Given the description of an element on the screen output the (x, y) to click on. 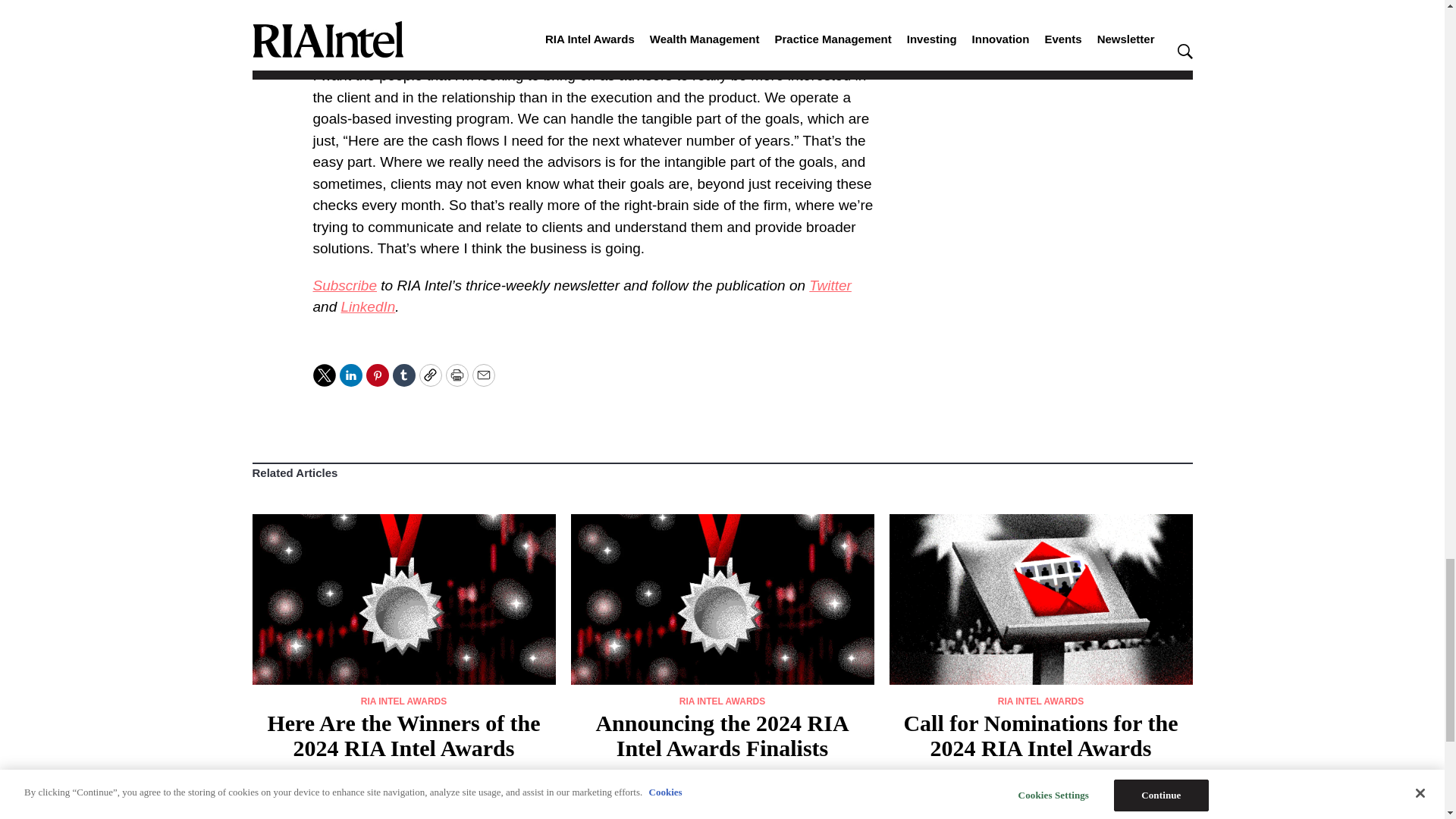
LinkedIn (350, 374)
Twitter (830, 285)
LinkedIn (367, 306)
Email (483, 374)
Tumblr (403, 374)
Twitter (323, 374)
Pinterest (376, 374)
Subscribe (345, 285)
Print (456, 374)
